Given the description of an element on the screen output the (x, y) to click on. 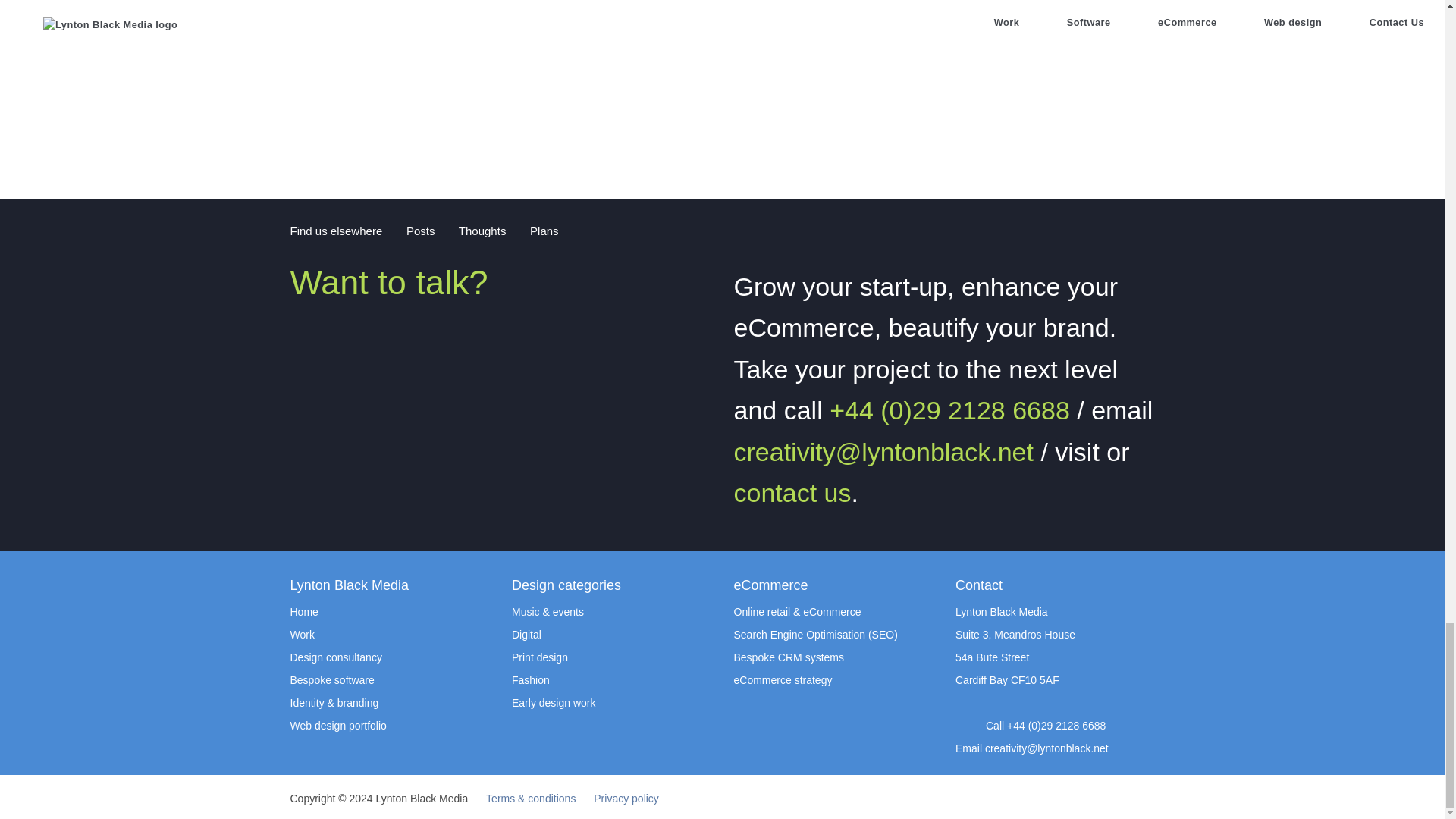
View our plans on tumblr (521, 229)
Visit our Facebook page (397, 229)
Early design work (553, 702)
Print design (539, 657)
on Facebook (413, 230)
contact us (792, 492)
Bespoke CRM systems (788, 657)
Web design work (722, 10)
